Given the description of an element on the screen output the (x, y) to click on. 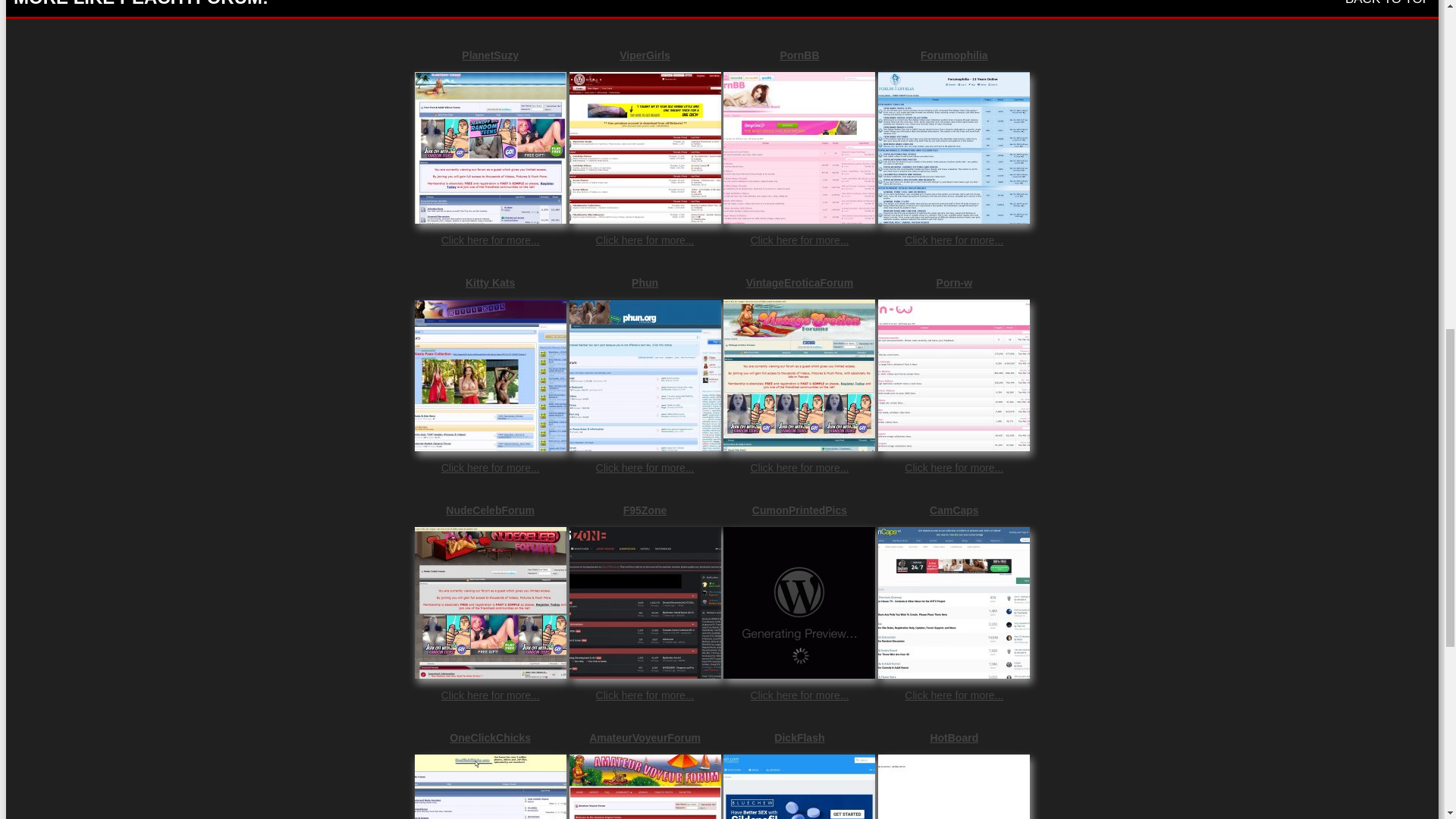
BACK TO TOP (1388, 2)
PornBB (799, 55)
PlanetSuzy (490, 55)
Click here for more... (490, 240)
Click here for more... (644, 240)
Forumophilia (953, 55)
CamCaps (953, 510)
NudeCelebForum (490, 510)
Click here for more... (953, 240)
ViperGirls (644, 55)
CumonPrintedPics (799, 510)
Click here for more... (798, 695)
Click here for more... (490, 467)
Click here for more... (798, 240)
Click here for more... (953, 467)
